Given the description of an element on the screen output the (x, y) to click on. 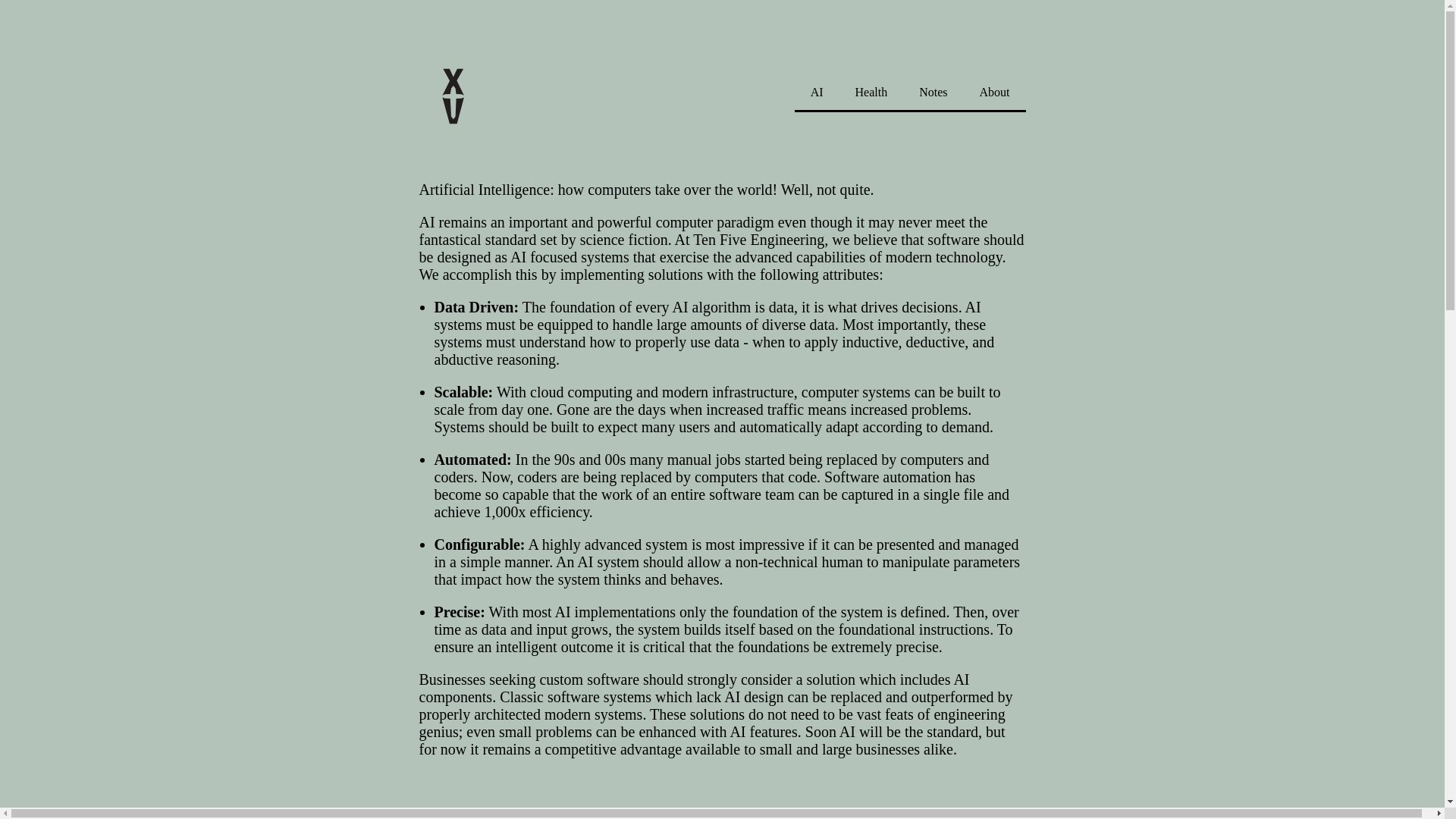
Notes (932, 91)
AI (817, 91)
About (994, 91)
Health (872, 91)
